Given the description of an element on the screen output the (x, y) to click on. 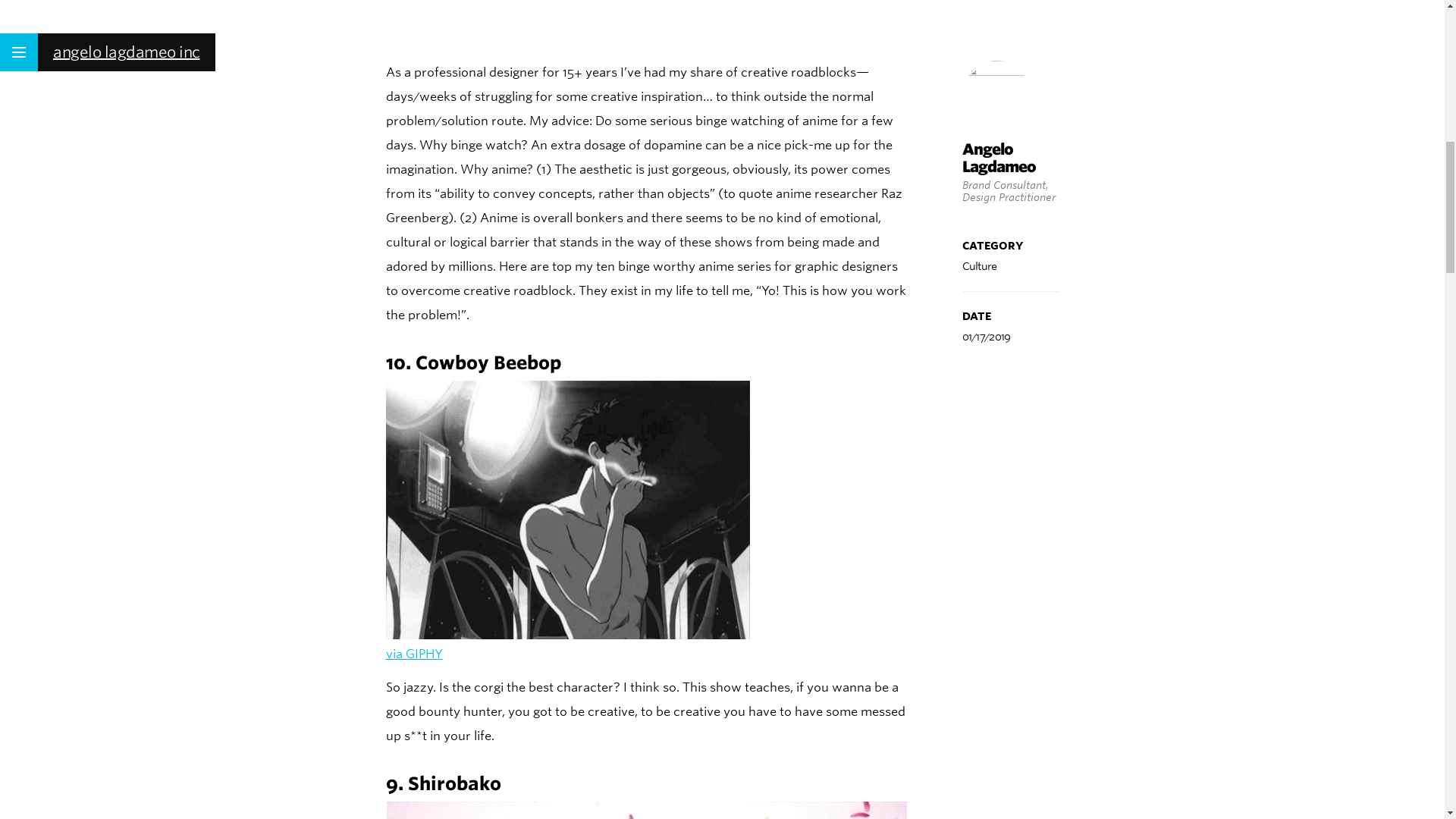
via GIPHY (413, 654)
